Given the description of an element on the screen output the (x, y) to click on. 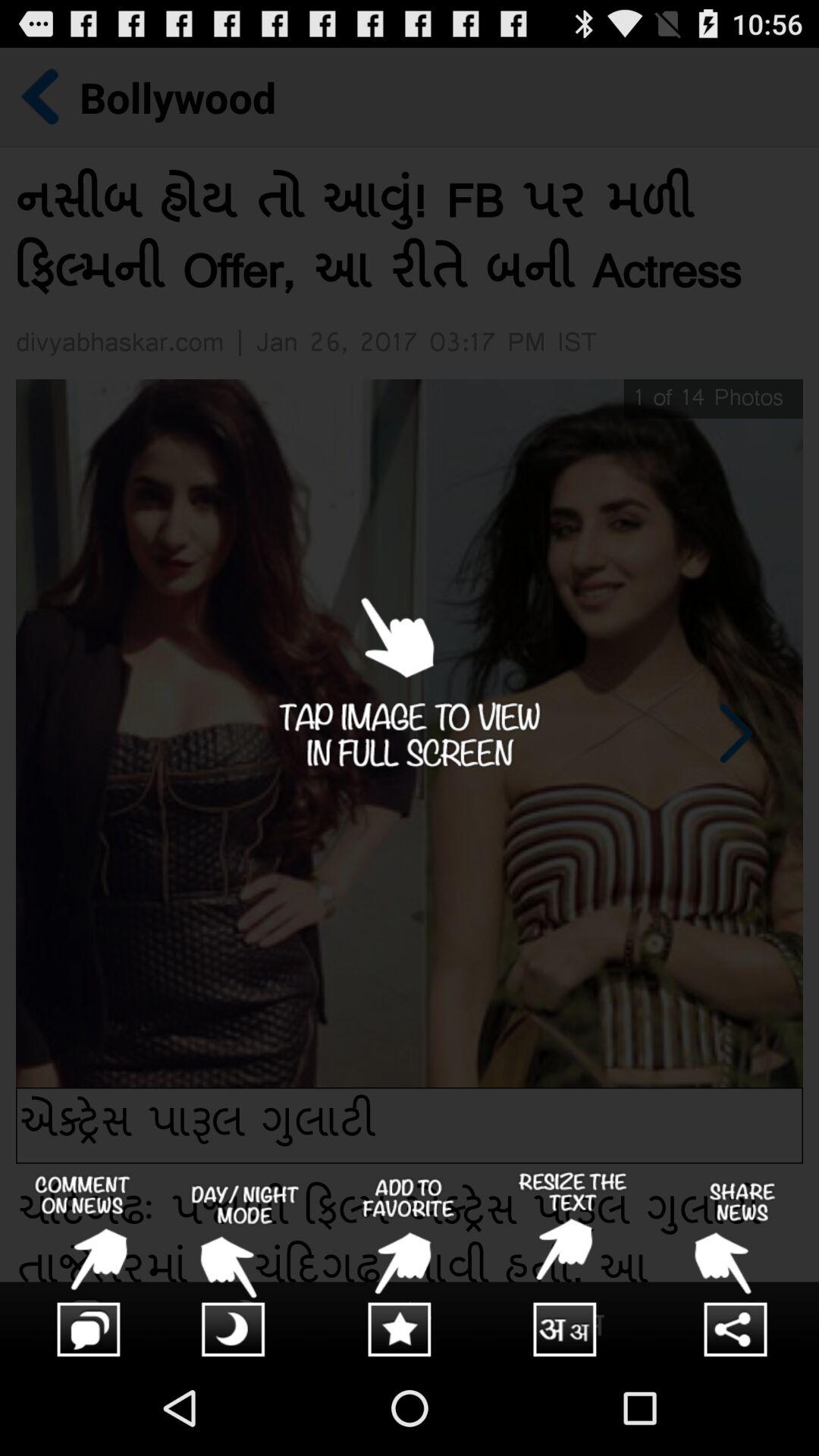
tap image box (409, 703)
